Given the description of an element on the screen output the (x, y) to click on. 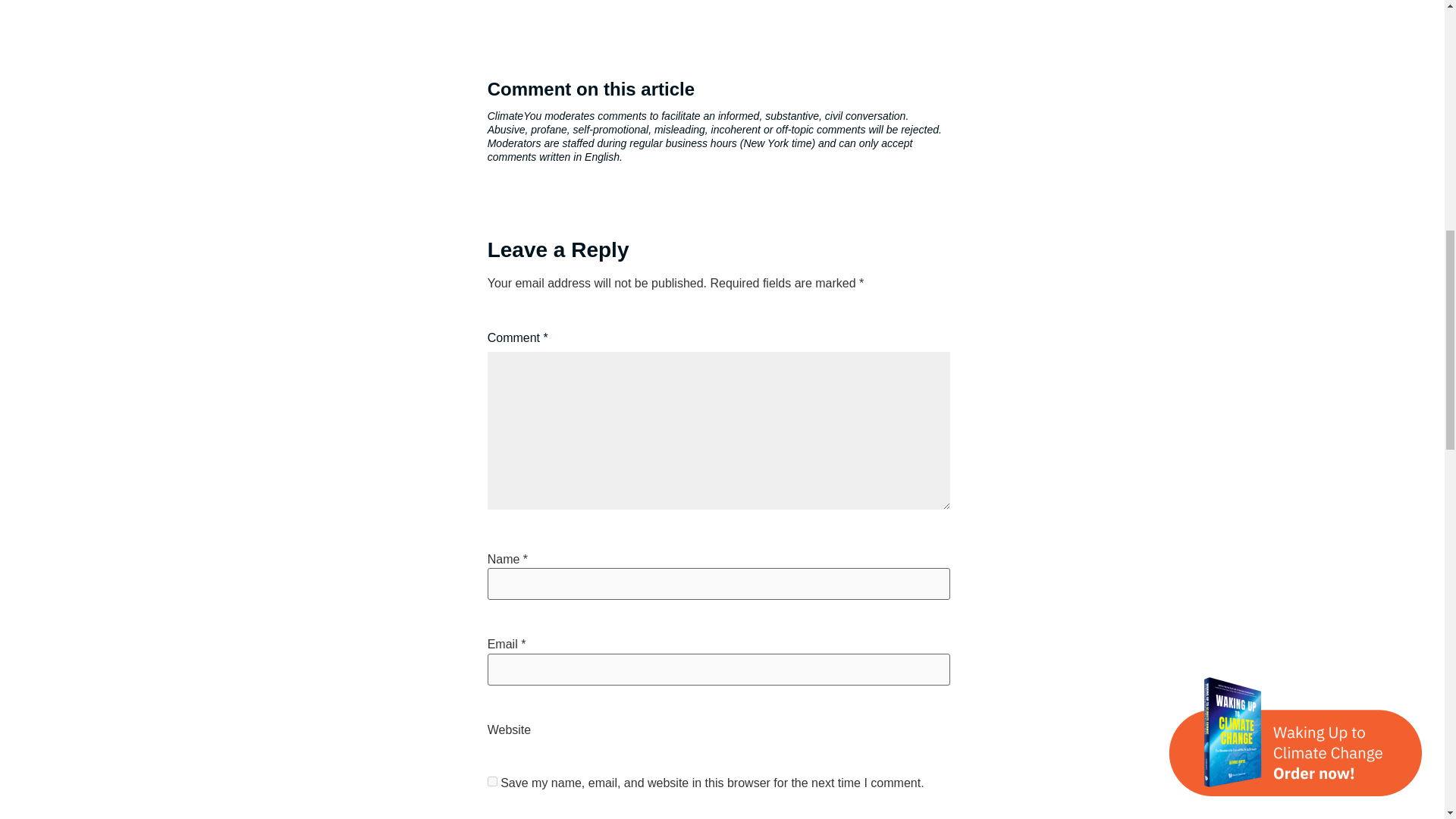
yes (492, 781)
